Given the description of an element on the screen output the (x, y) to click on. 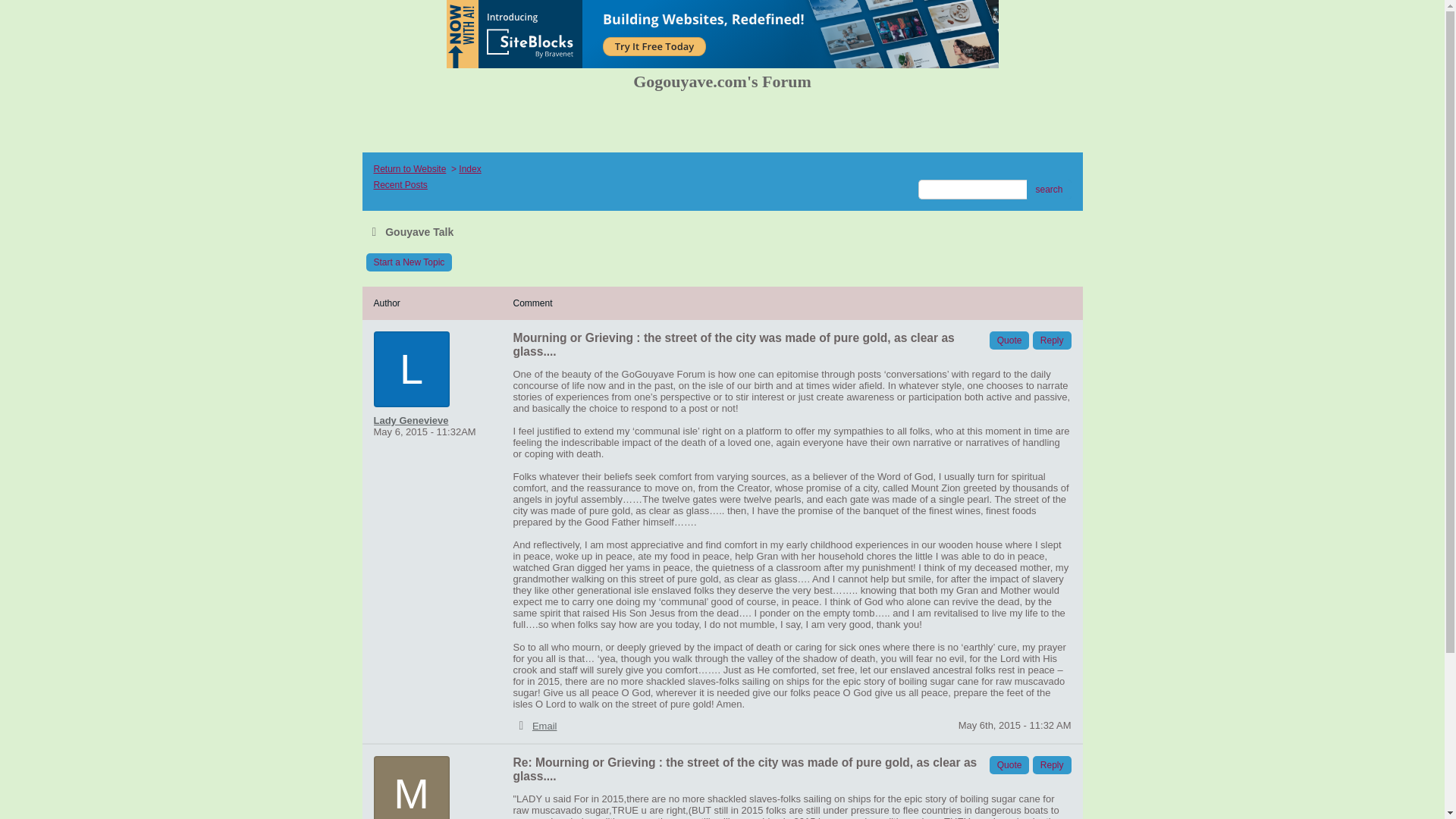
Email (544, 726)
Return to Website (408, 168)
Index (469, 168)
New SiteBlocks Website Builder now with BraveAI (721, 33)
Lady Genevieve (421, 419)
Reply (1051, 340)
Quote (1009, 764)
Reply (1051, 764)
search (1048, 189)
Quote (1009, 340)
